Given the description of an element on the screen output the (x, y) to click on. 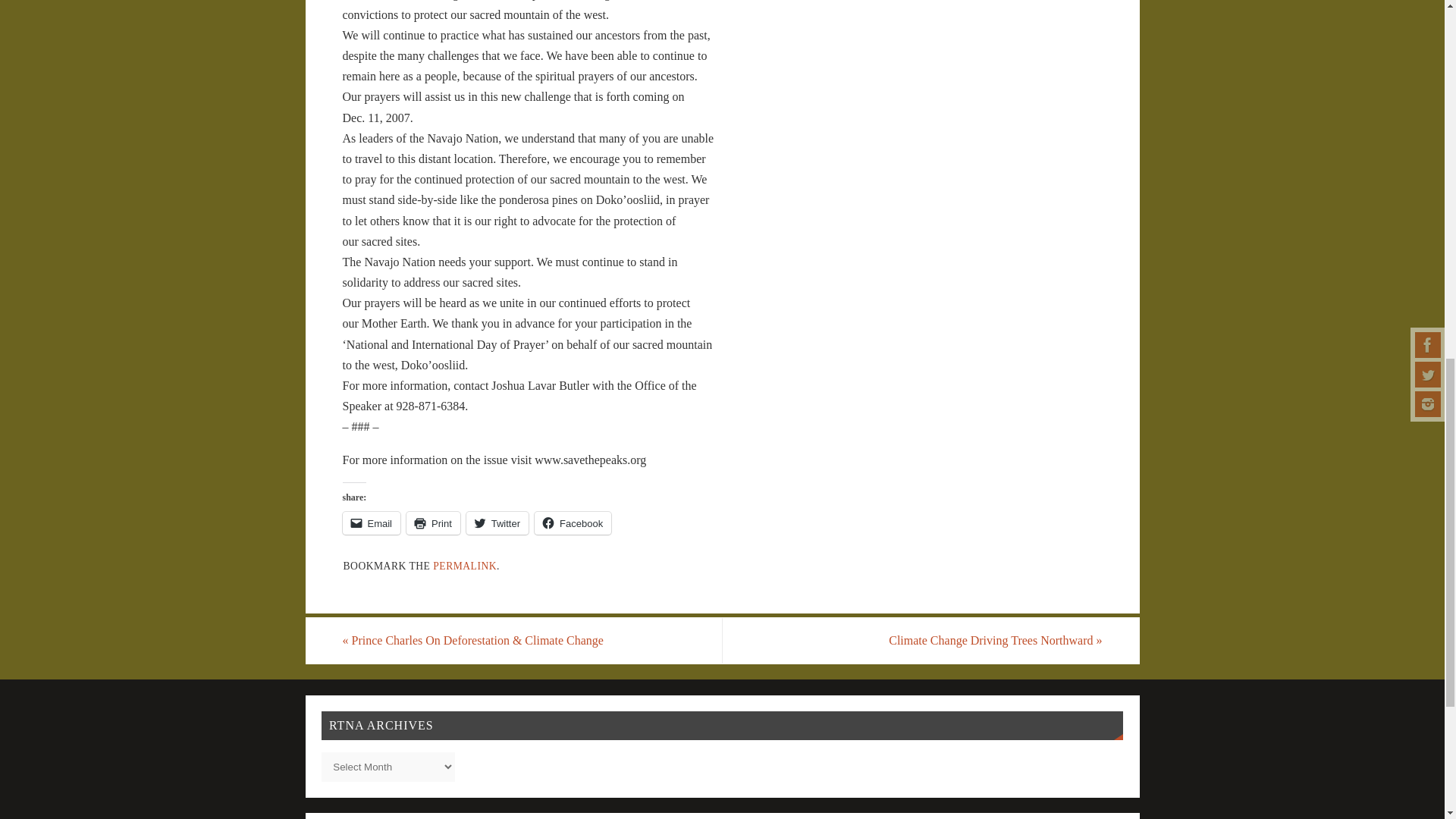
Click to share on Twitter (496, 522)
Email (371, 522)
Click to email a link to a friend (371, 522)
Print (433, 522)
Click to print (433, 522)
Click to share on Facebook (572, 522)
